Given the description of an element on the screen output the (x, y) to click on. 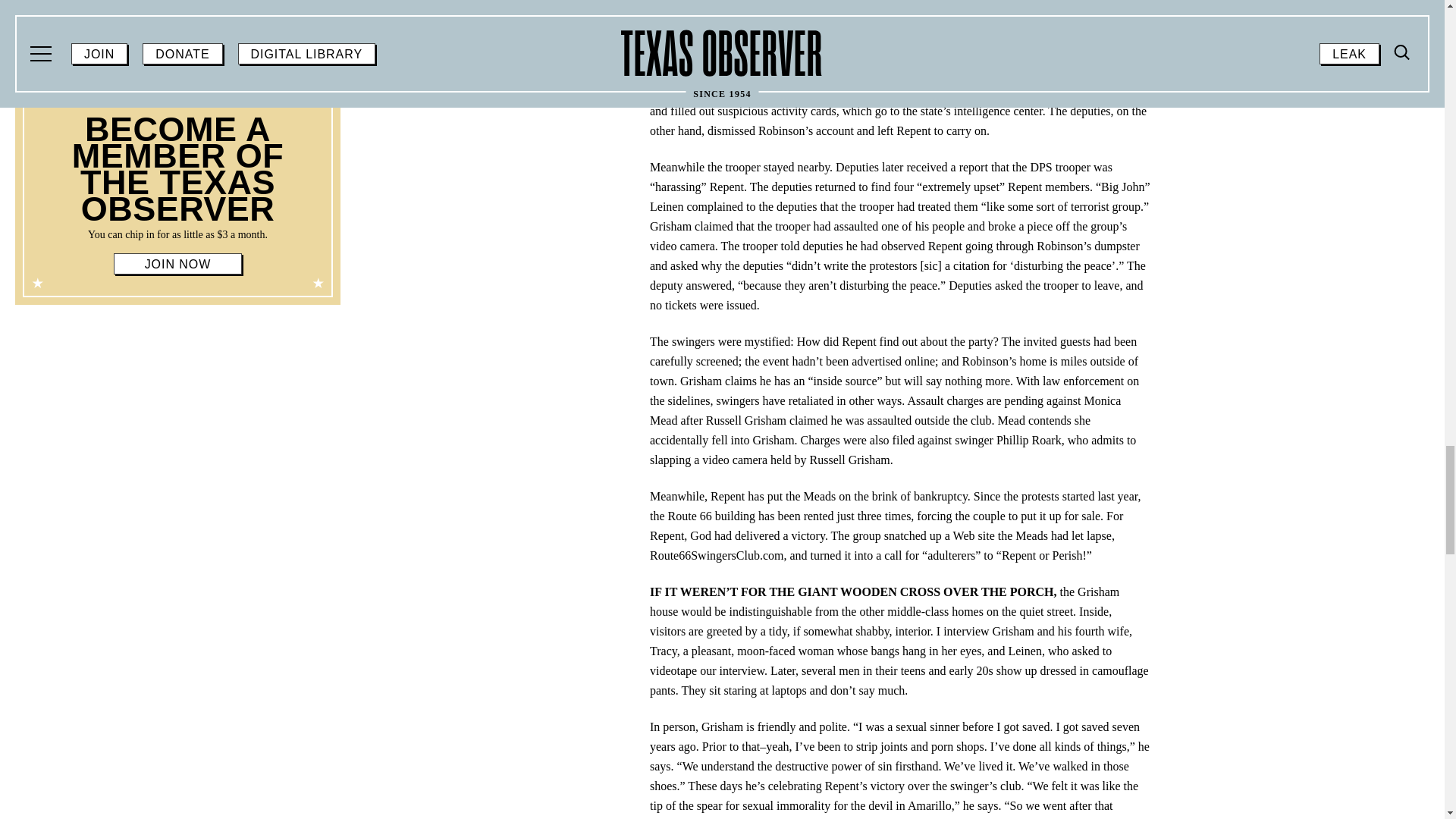
Learn more about citizens fighting Repent. (1048, 71)
